Given the description of an element on the screen output the (x, y) to click on. 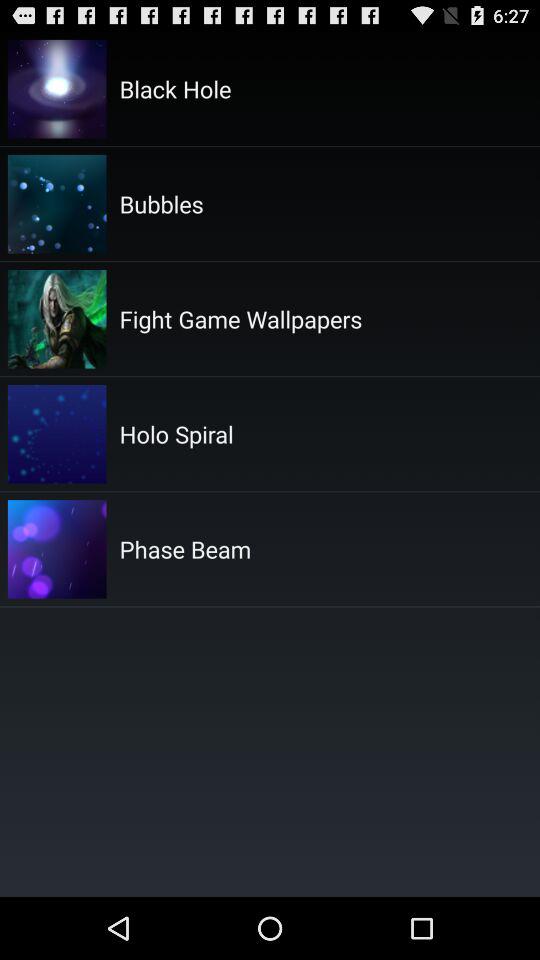
select the holo spiral icon (176, 434)
